Given the description of an element on the screen output the (x, y) to click on. 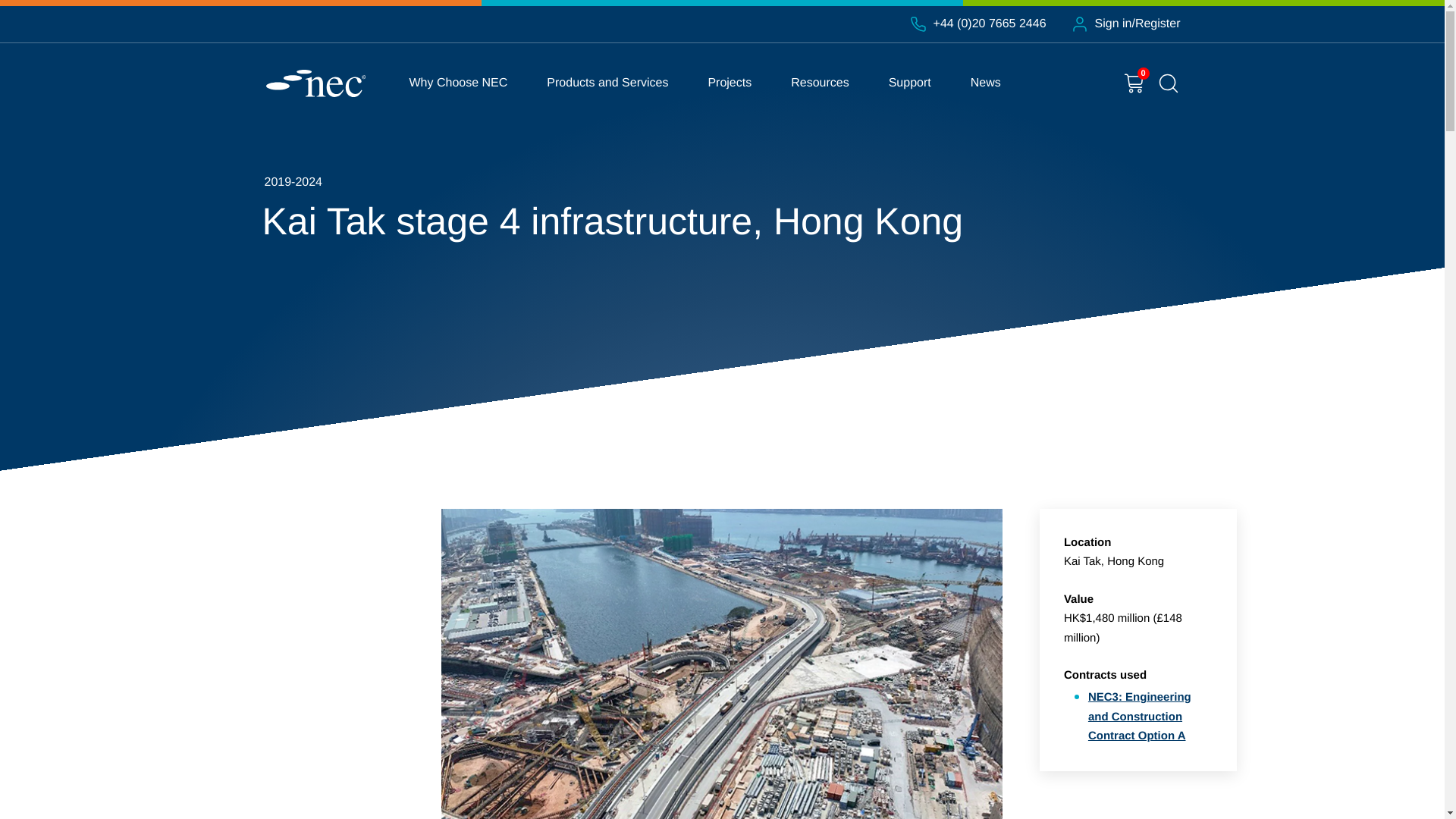
Products and Services (606, 83)
Projects (730, 83)
Why Choose NEC (458, 83)
